Given the description of an element on the screen output the (x, y) to click on. 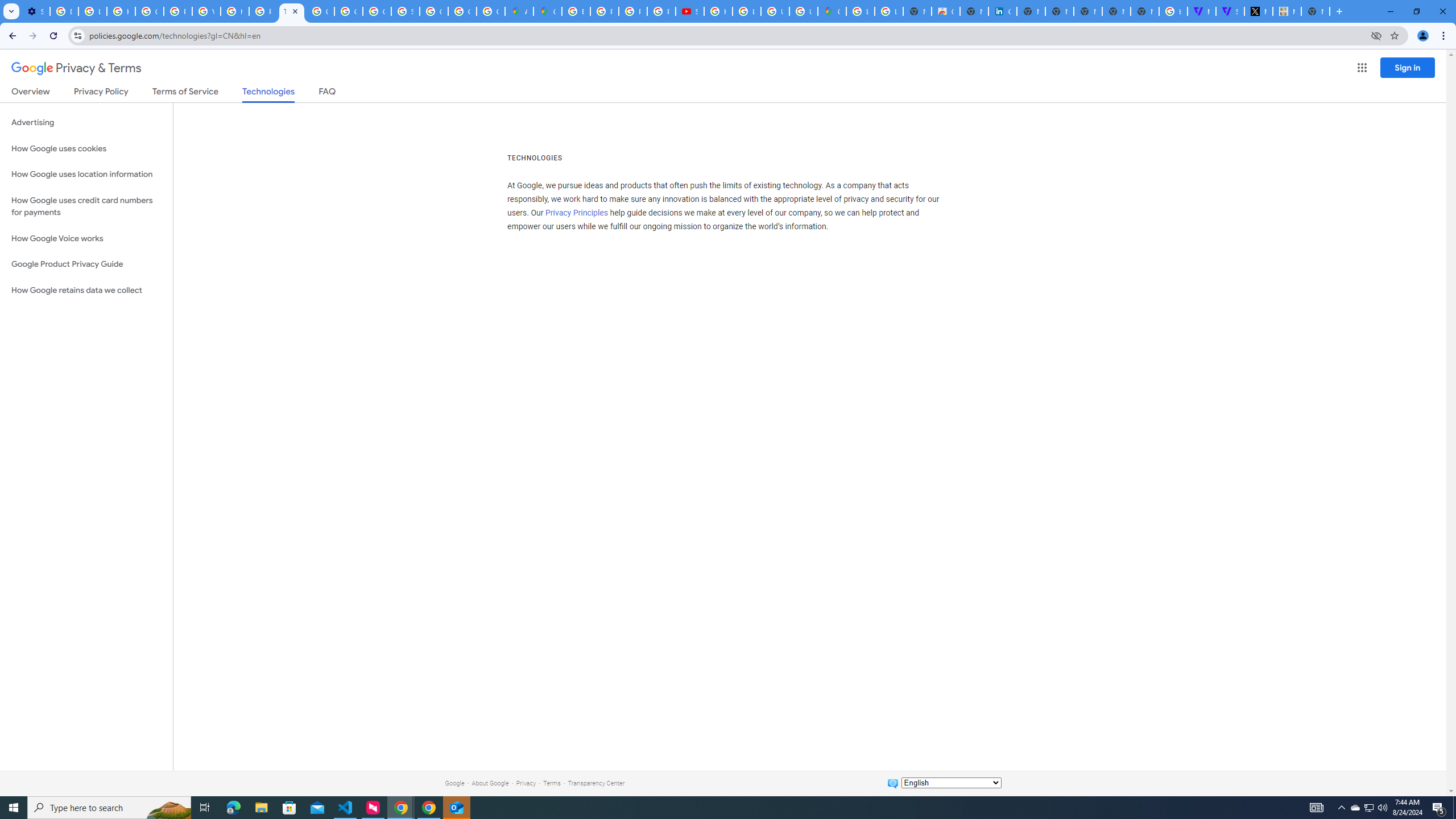
Advertising (86, 122)
Google Product Privacy Guide (86, 264)
Privacy Help Center - Policies Help (263, 11)
Transparency Center (595, 783)
About Google (490, 783)
